Given the description of an element on the screen output the (x, y) to click on. 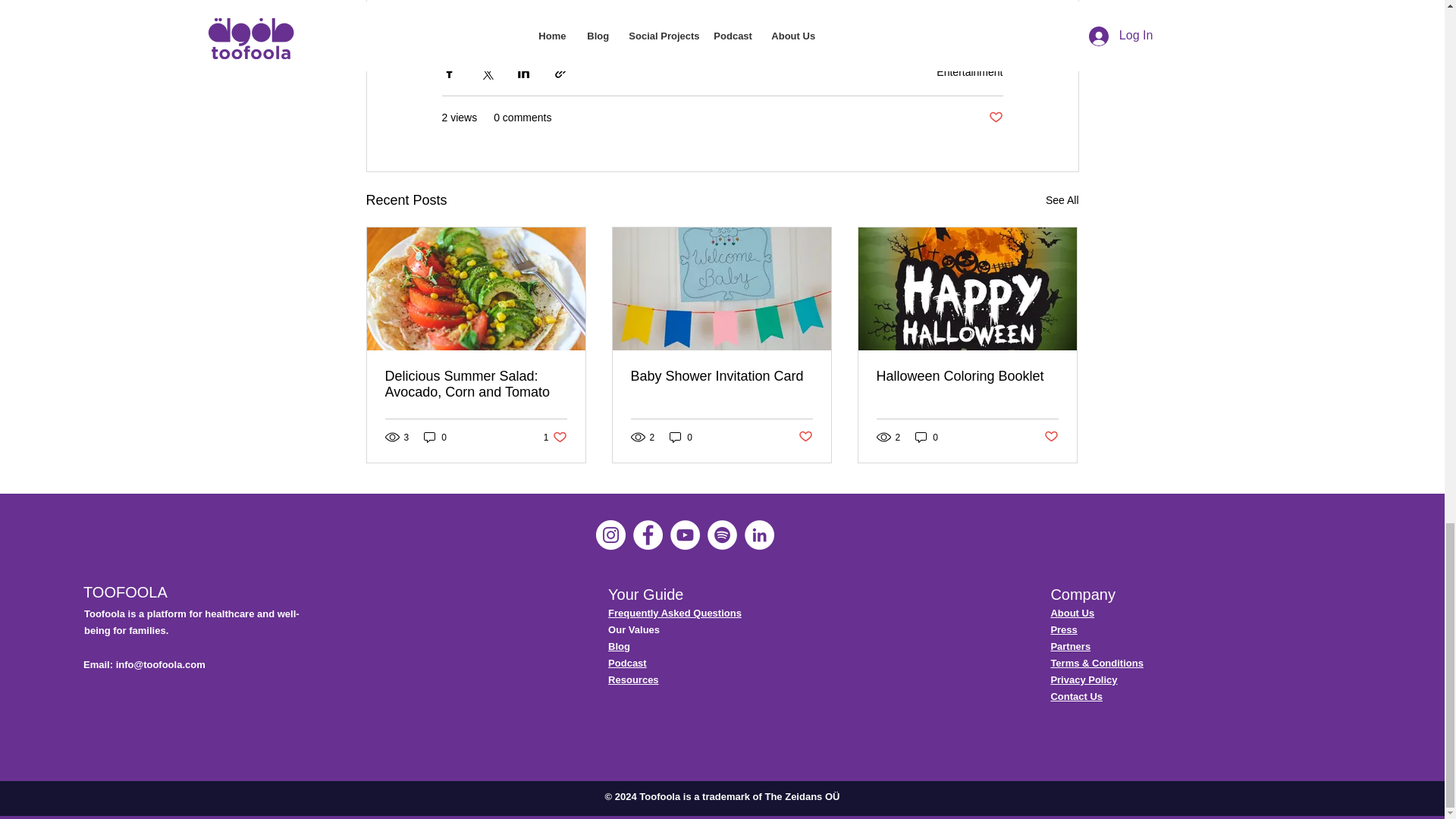
Post not marked as liked (995, 117)
0 (926, 436)
Entertainment (969, 71)
Baby Shower Invitation Card (721, 376)
Post not marked as liked (804, 437)
Post not marked as liked (1050, 437)
0 (681, 436)
Halloween Coloring Booklet (967, 376)
Blog (619, 645)
See All (1061, 200)
